Given the description of an element on the screen output the (x, y) to click on. 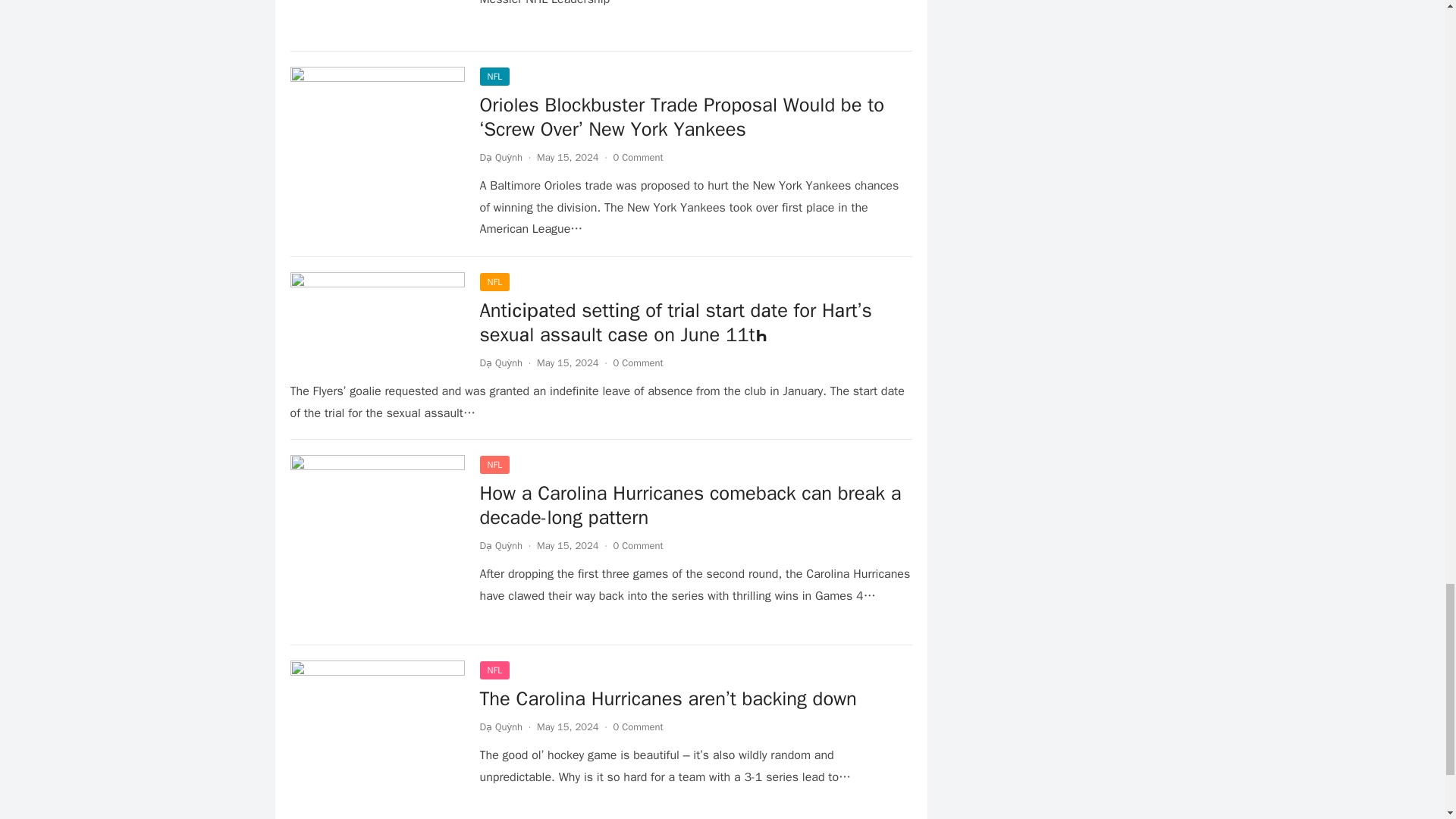
0 Comment (637, 362)
0 Comment (637, 156)
NFL (494, 281)
NFL (494, 76)
